Given the description of an element on the screen output the (x, y) to click on. 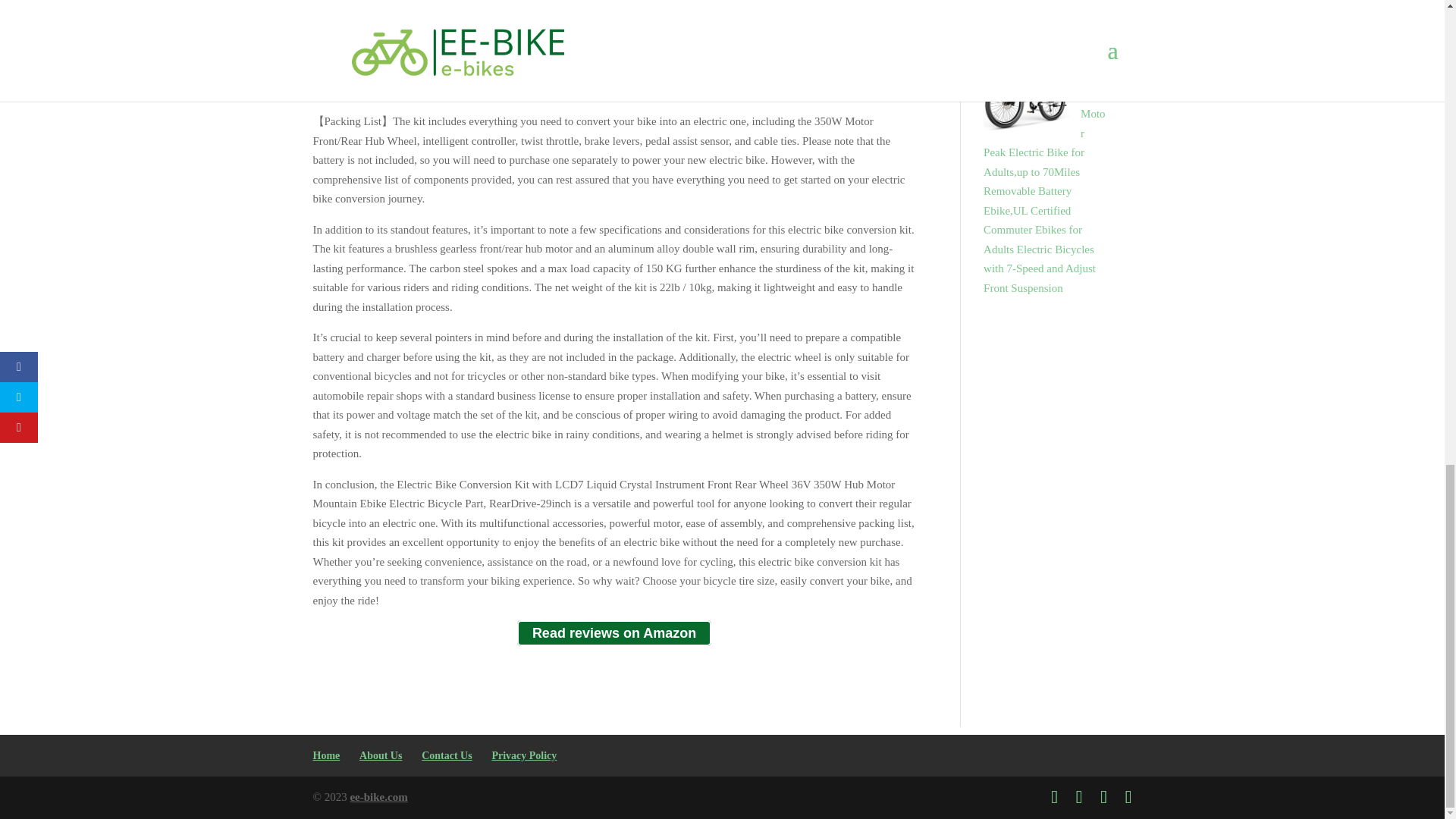
Read reviews on Amazon (613, 633)
About Us (380, 755)
Privacy Policy (524, 755)
Home (326, 755)
ee-bike.com (378, 797)
Contact Us (446, 755)
